Given the description of an element on the screen output the (x, y) to click on. 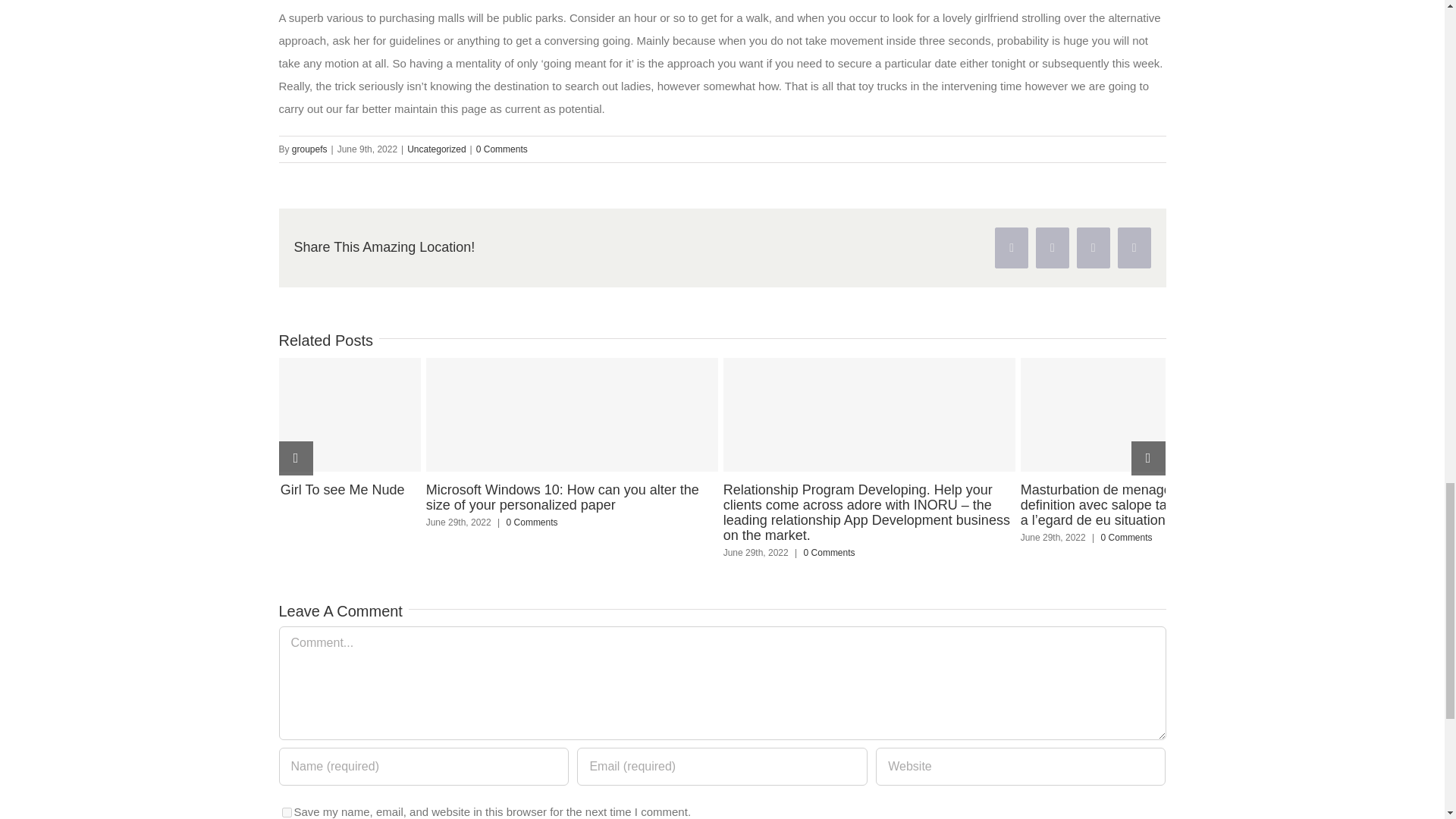
Posts by groupefs (309, 149)
yes (287, 812)
